Given the description of an element on the screen output the (x, y) to click on. 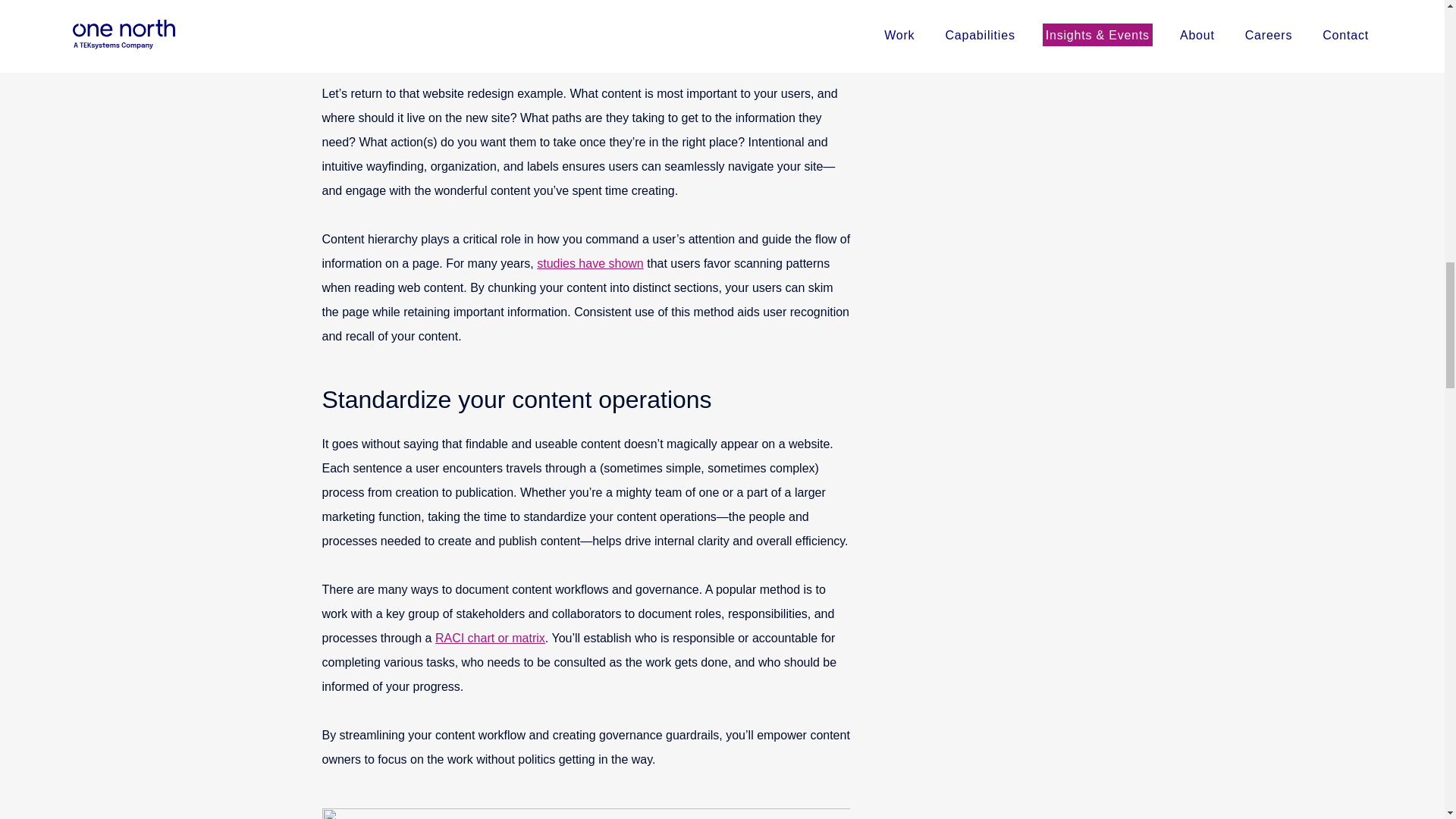
RACI chart or matrix (489, 637)
studies have shown (590, 263)
